Given the description of an element on the screen output the (x, y) to click on. 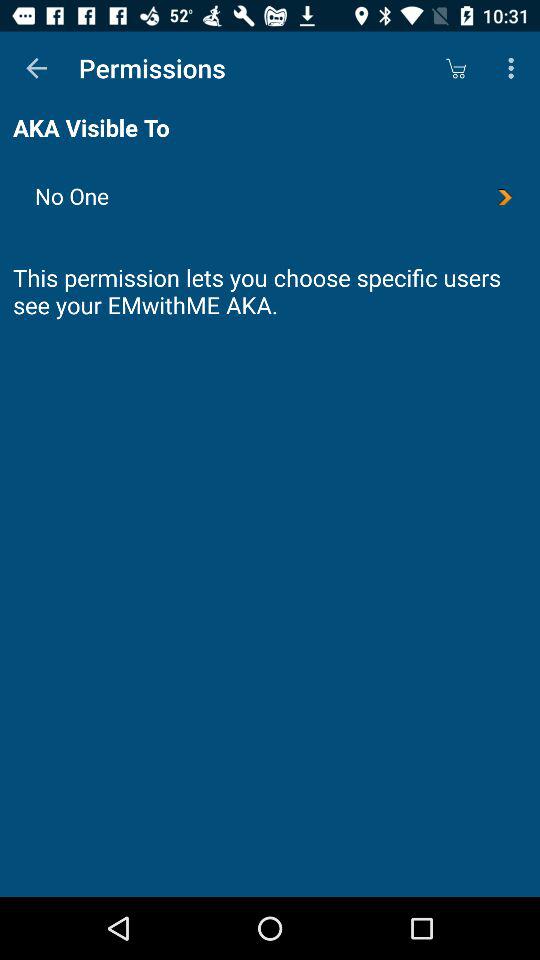
select the icon to the left of permissions app (36, 68)
